Given the description of an element on the screen output the (x, y) to click on. 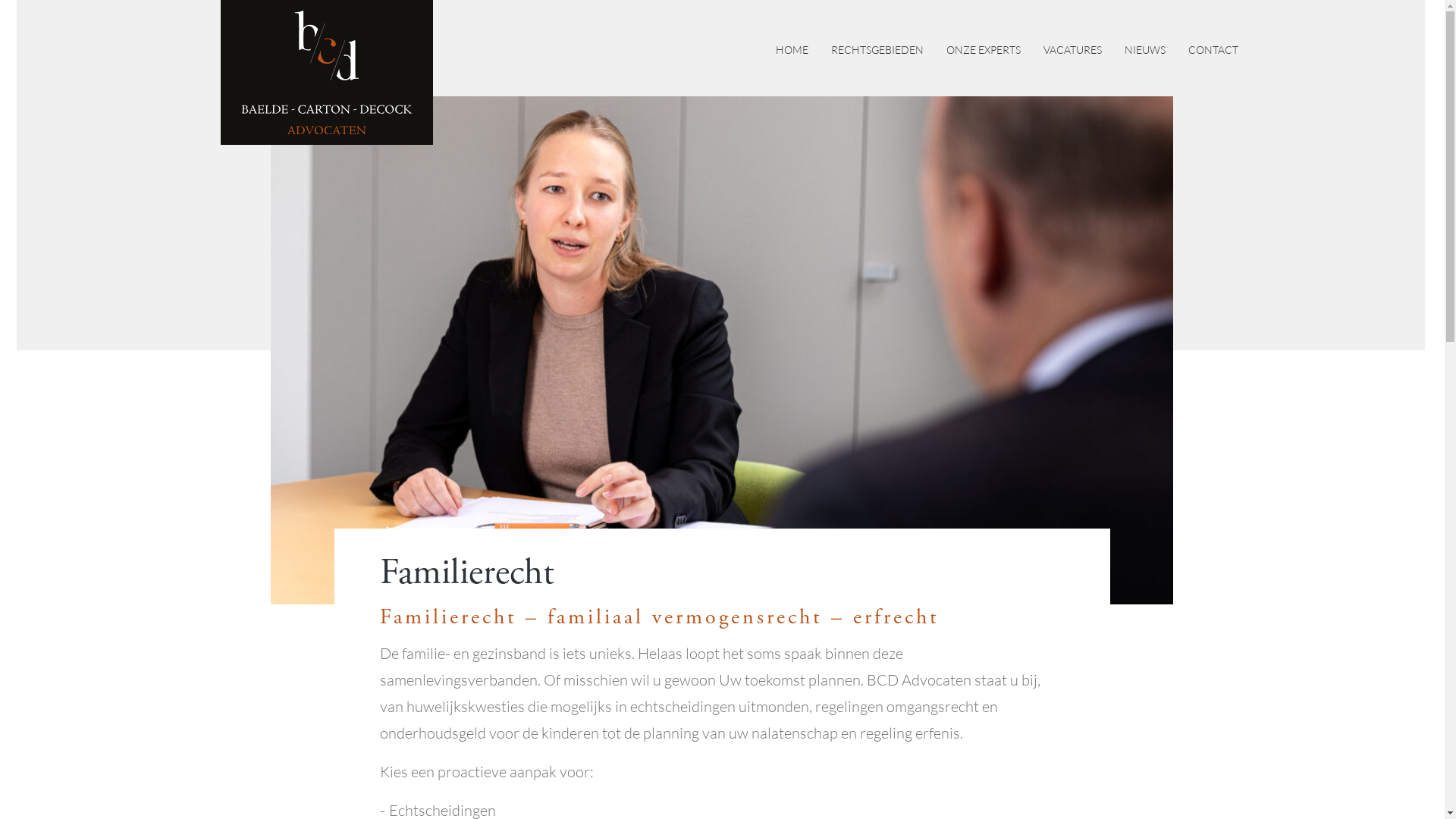
HOME Element type: text (791, 49)
ONZE EXPERTS Element type: text (983, 49)
CONTACT Element type: text (1212, 49)
VACATURES Element type: text (1072, 49)
NIEUWS Element type: text (1143, 49)
RECHTSGEBIEDEN Element type: text (877, 49)
